Given the description of an element on the screen output the (x, y) to click on. 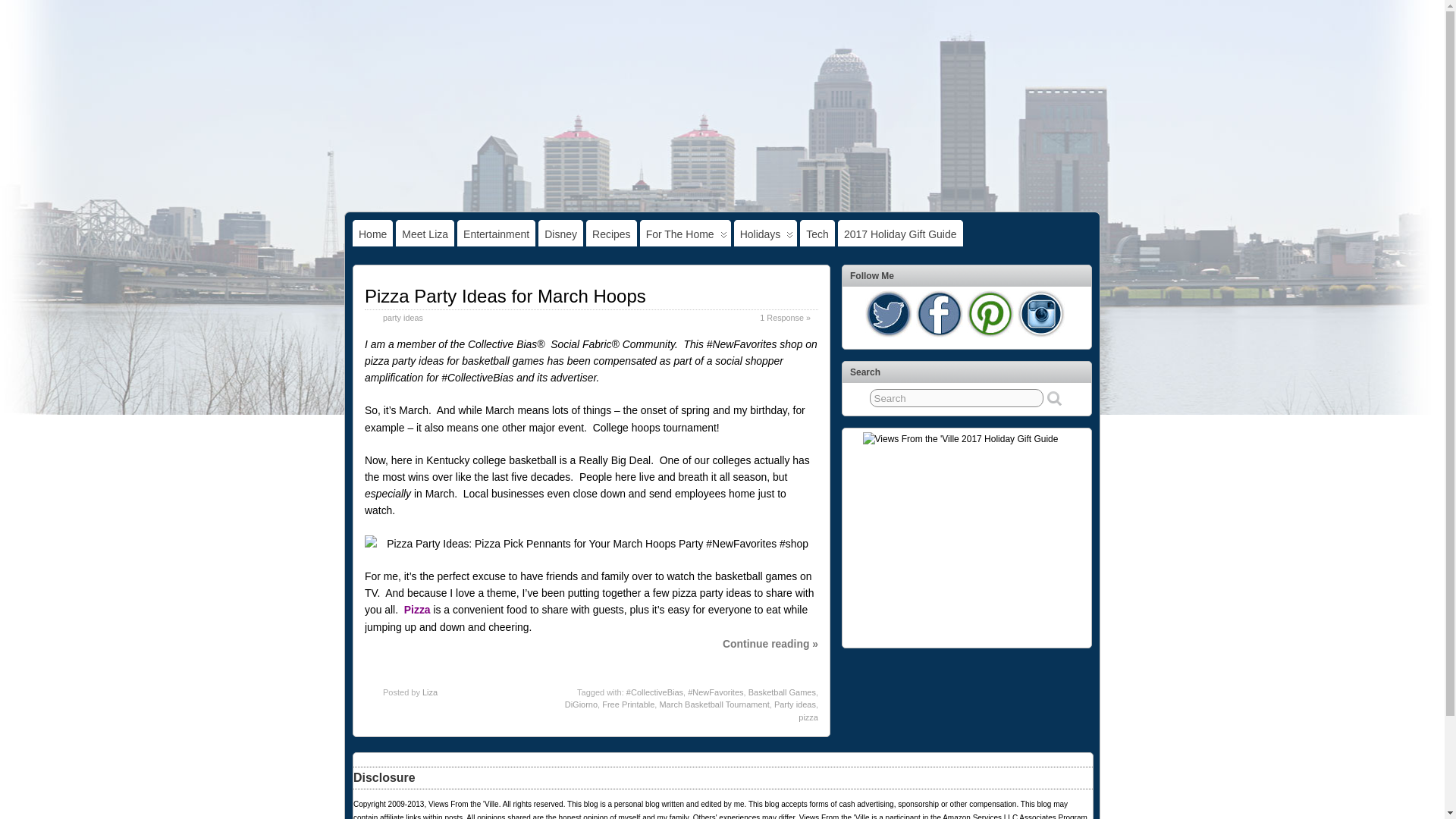
Recipes (611, 233)
 Holidays (765, 233)
Views From the 'Ville 2017 Holiday Gift Guide (967, 536)
 For The Home (685, 233)
Pizza Party Ideas for March Hoops (505, 295)
Tech (816, 233)
Disney (560, 233)
party ideas (402, 317)
Liza (430, 691)
March Basketball Tournament (713, 704)
Home (372, 233)
Free Printable (627, 704)
Party ideas (794, 704)
Pizza Pick Pennants for Your March Hoops Party (591, 543)
Basketball Games (781, 691)
